Given the description of an element on the screen output the (x, y) to click on. 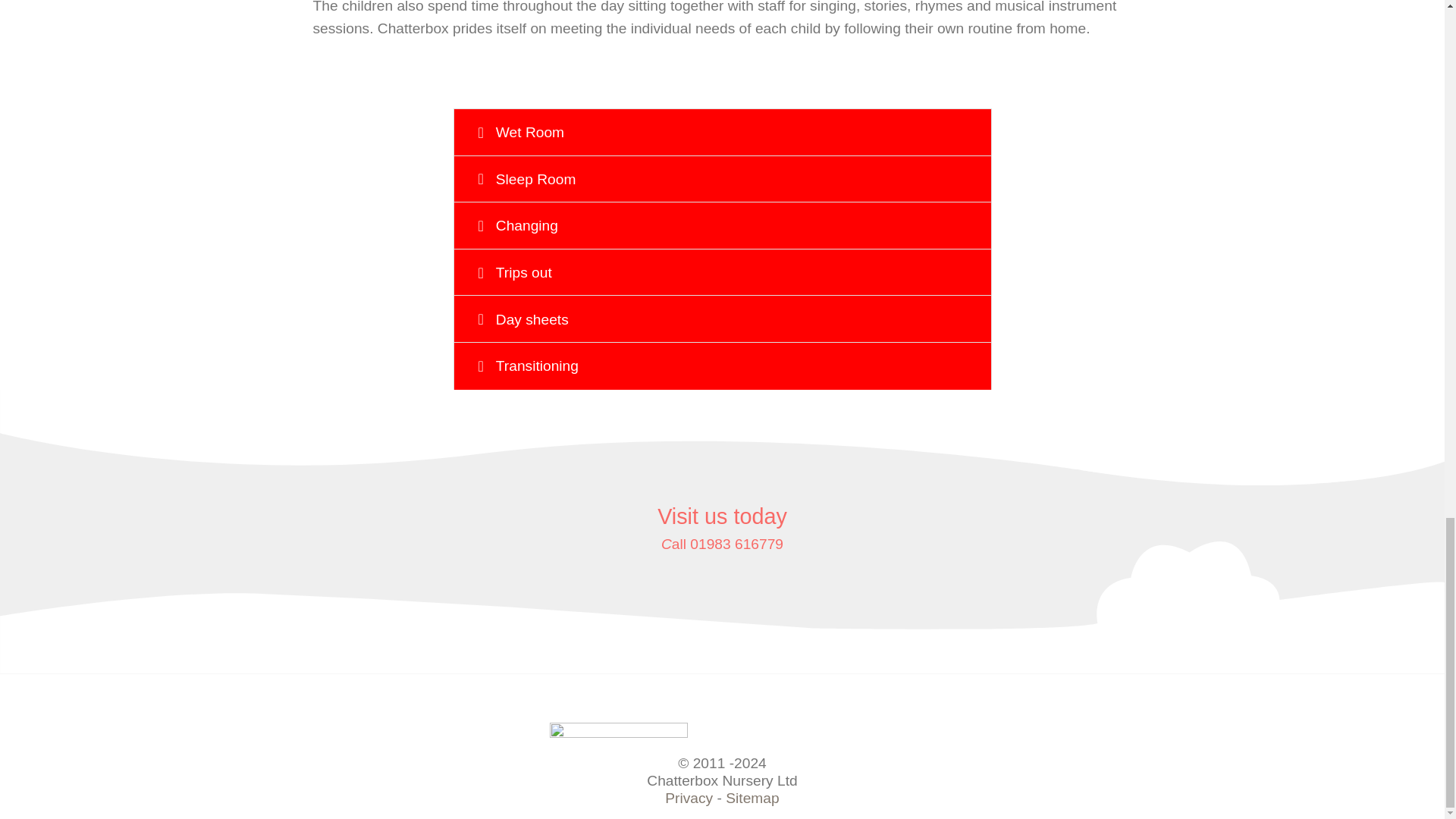
Day sheets            (721, 318)
Sleep Room (721, 179)
Changing                            (721, 225)
Wet Room (721, 132)
Sitemap (751, 797)
Transitioning (721, 366)
Privacy (689, 797)
Trips out                    (721, 272)
